Given the description of an element on the screen output the (x, y) to click on. 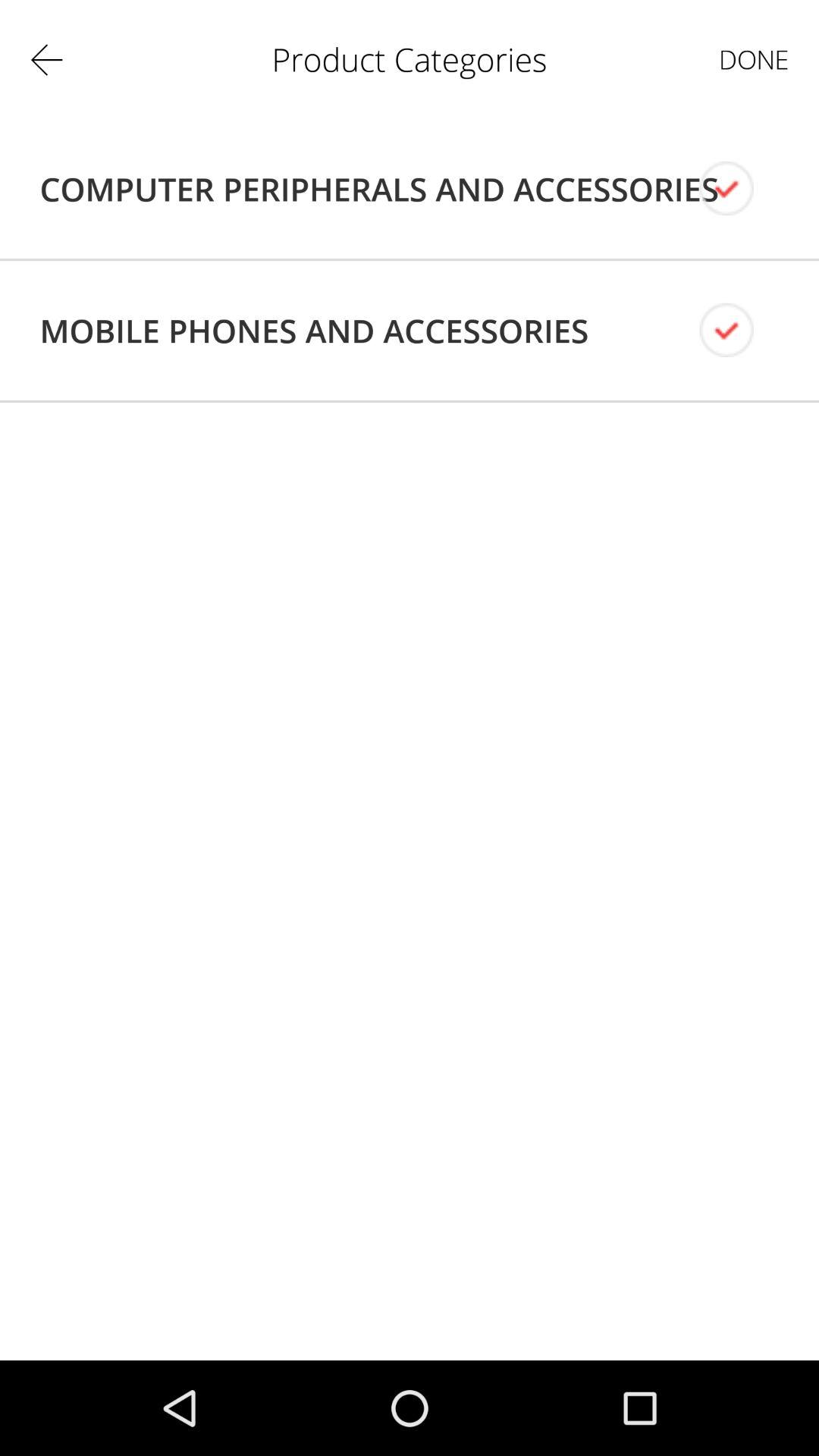
turn on app to the left of the done app (378, 188)
